Given the description of an element on the screen output the (x, y) to click on. 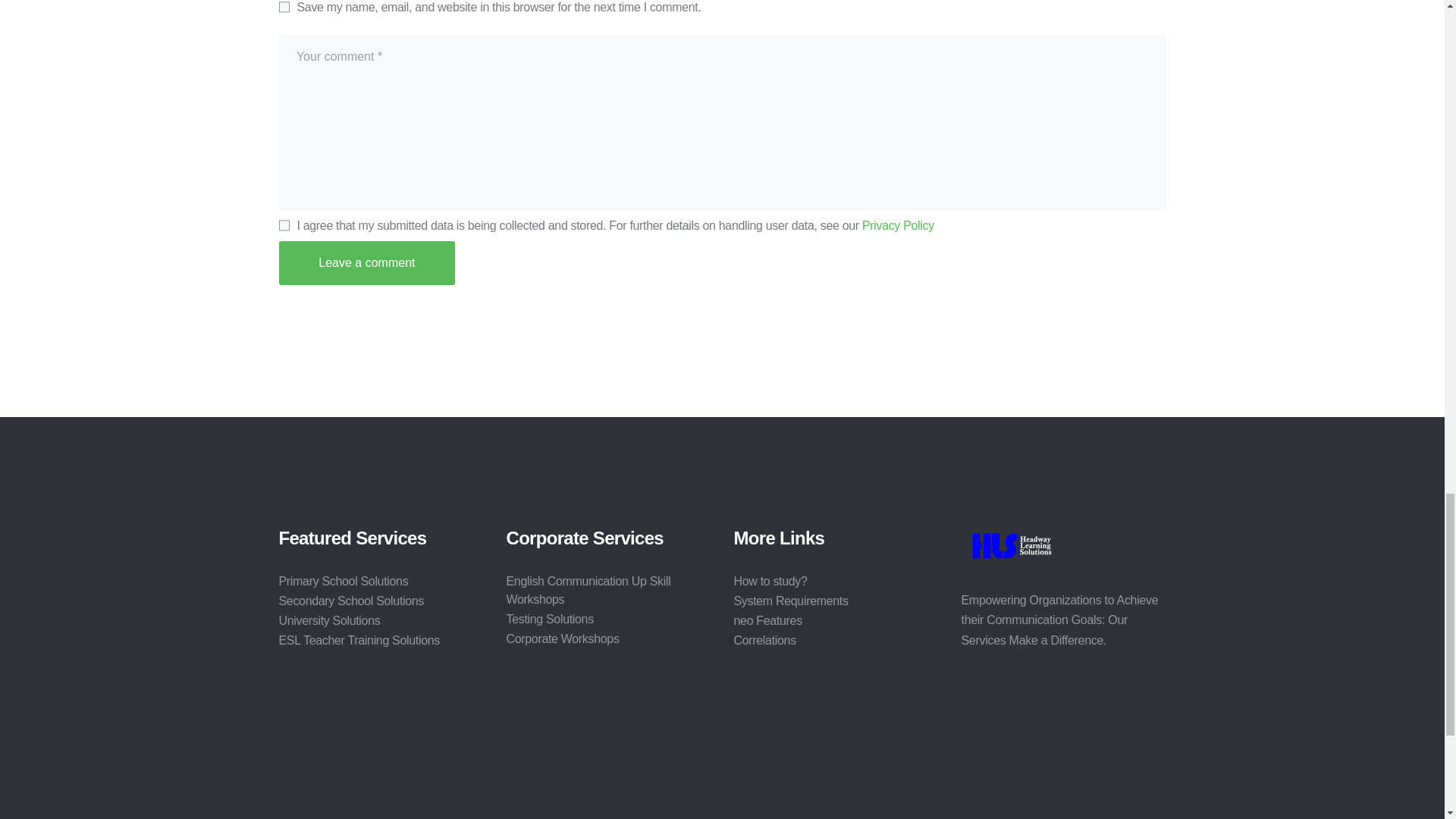
Secondary School Solutions (352, 600)
Privacy Policy (897, 225)
Leave a comment (367, 262)
Leave a comment (367, 262)
Primary School Solutions (344, 581)
